Given the description of an element on the screen output the (x, y) to click on. 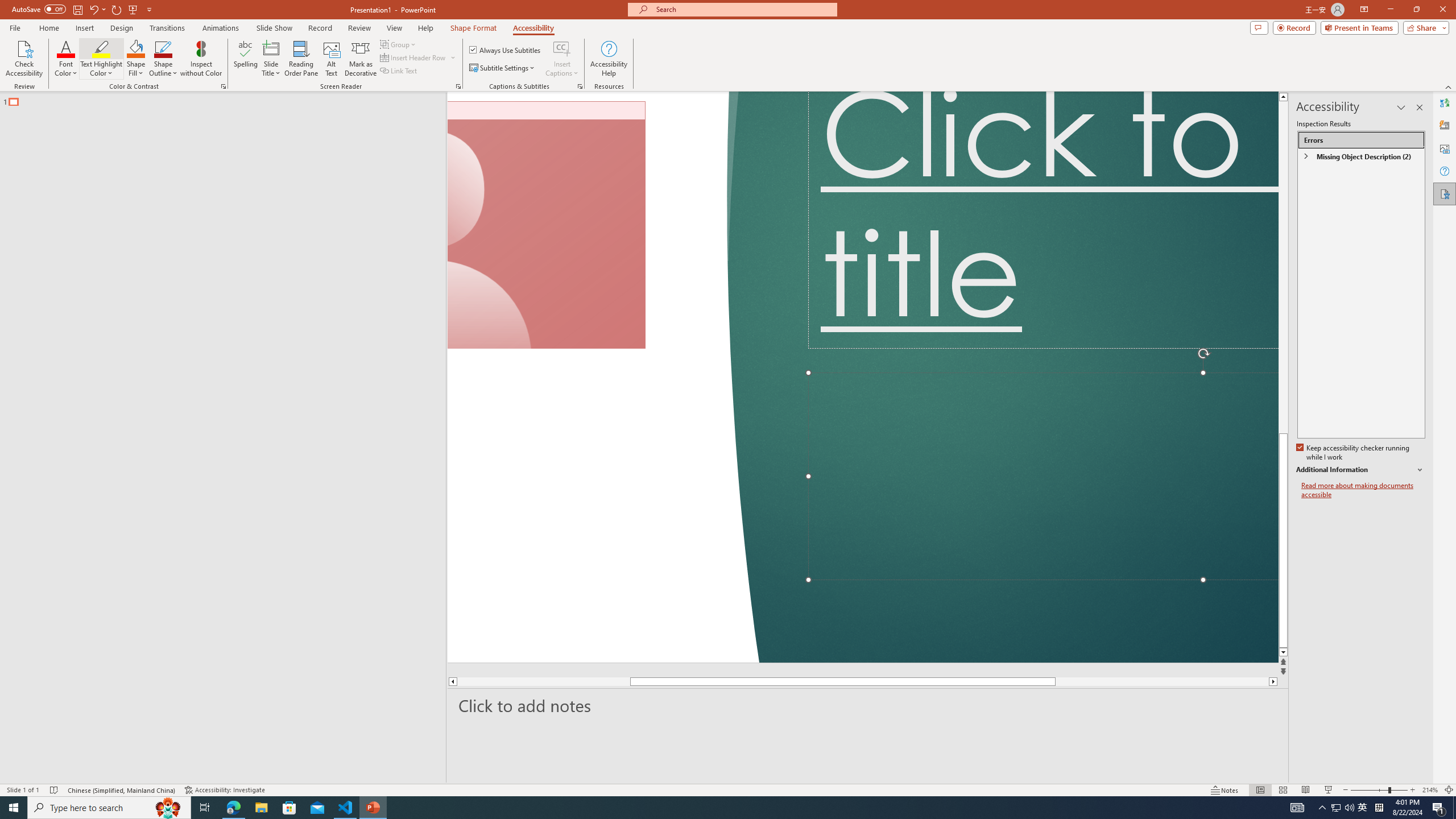
Link Text (399, 69)
